Given the description of an element on the screen output the (x, y) to click on. 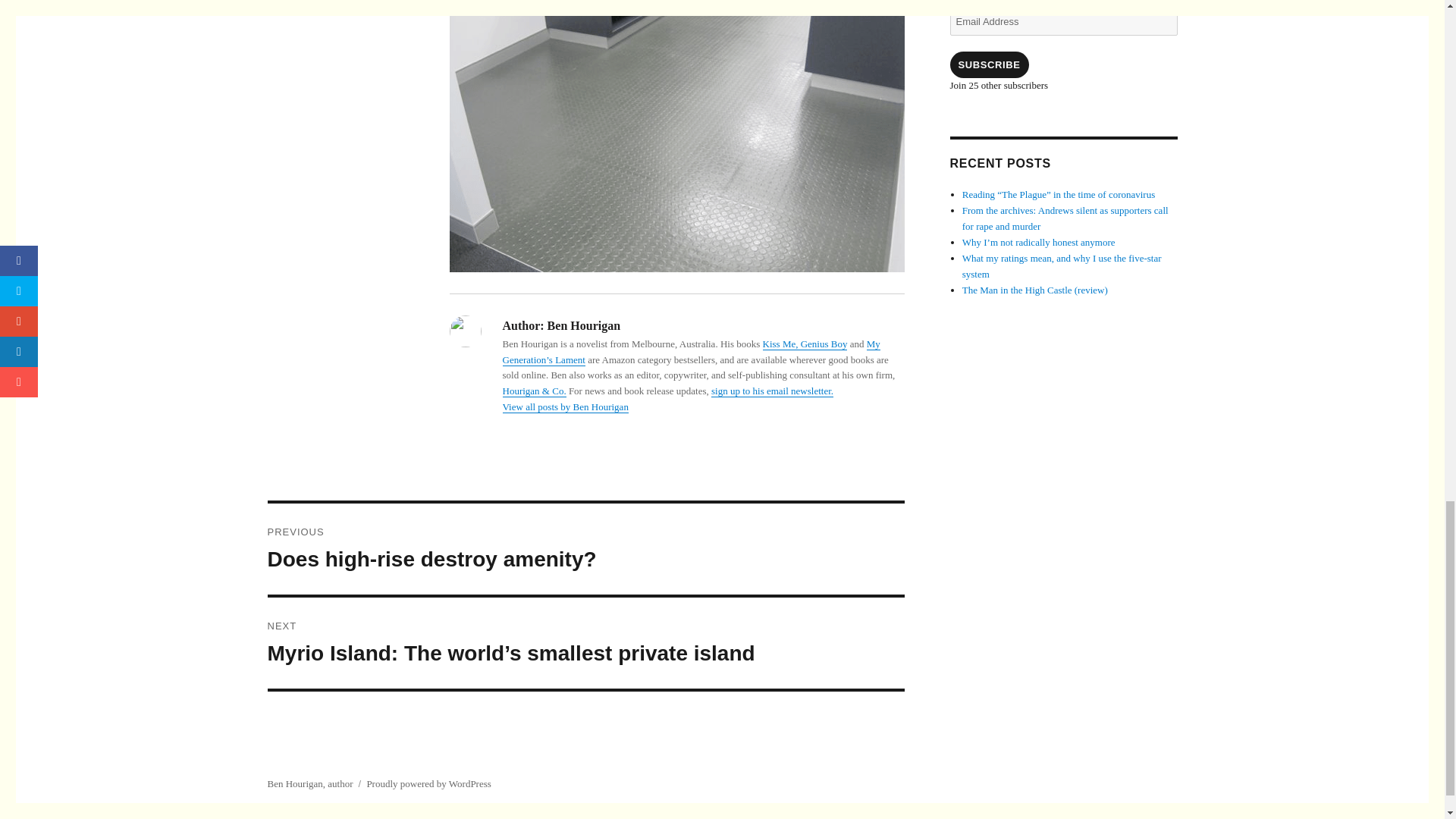
Kiss Me, Genius Boy (804, 343)
NewImage.png (676, 135)
sign up to his email newsletter. (771, 390)
SUBSCRIBE (988, 64)
View all posts by Ben Hourigan (585, 548)
